Given the description of an element on the screen output the (x, y) to click on. 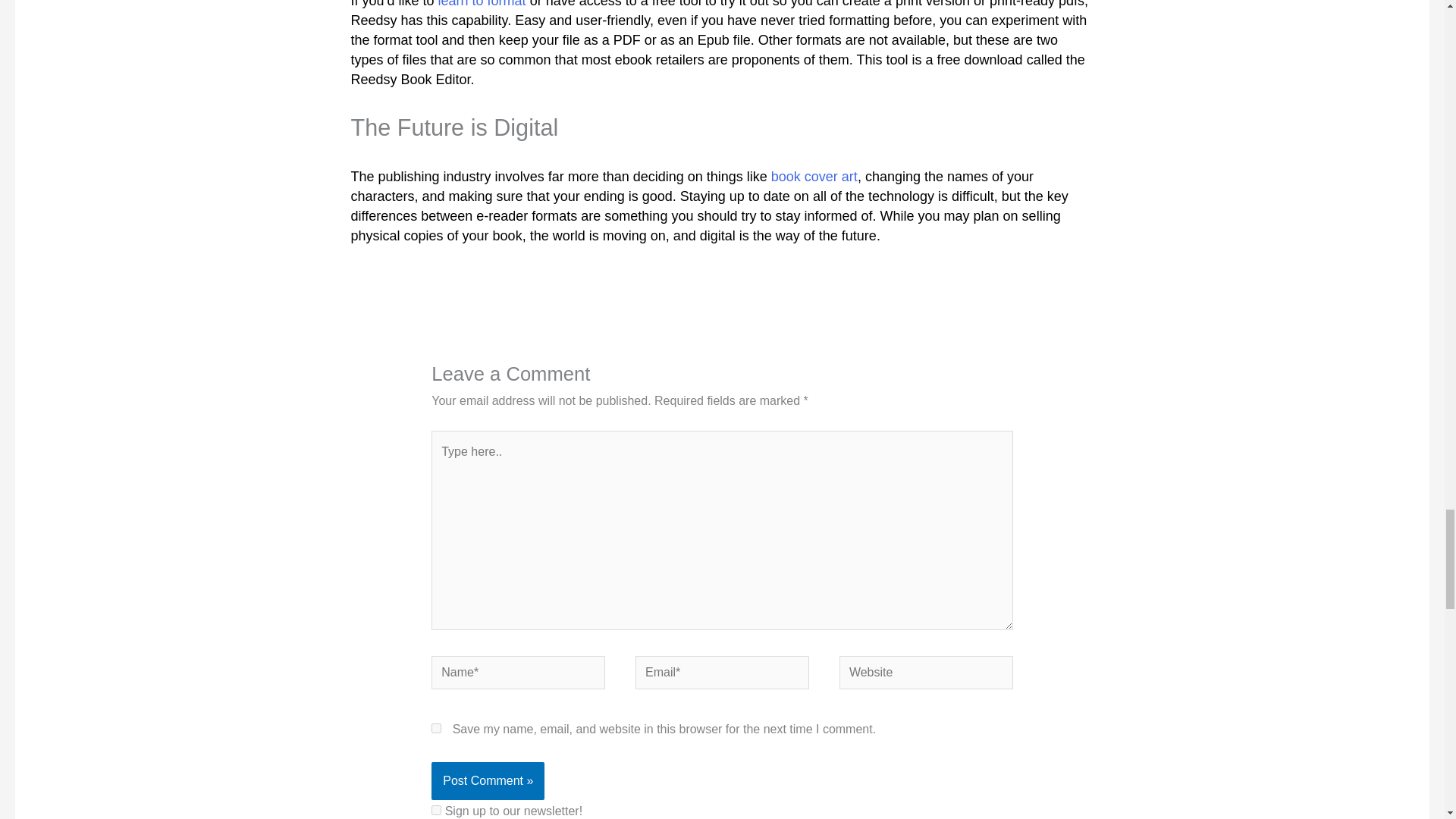
1 (435, 809)
yes (435, 728)
book cover art (814, 176)
learn to format (481, 4)
